Given the description of an element on the screen output the (x, y) to click on. 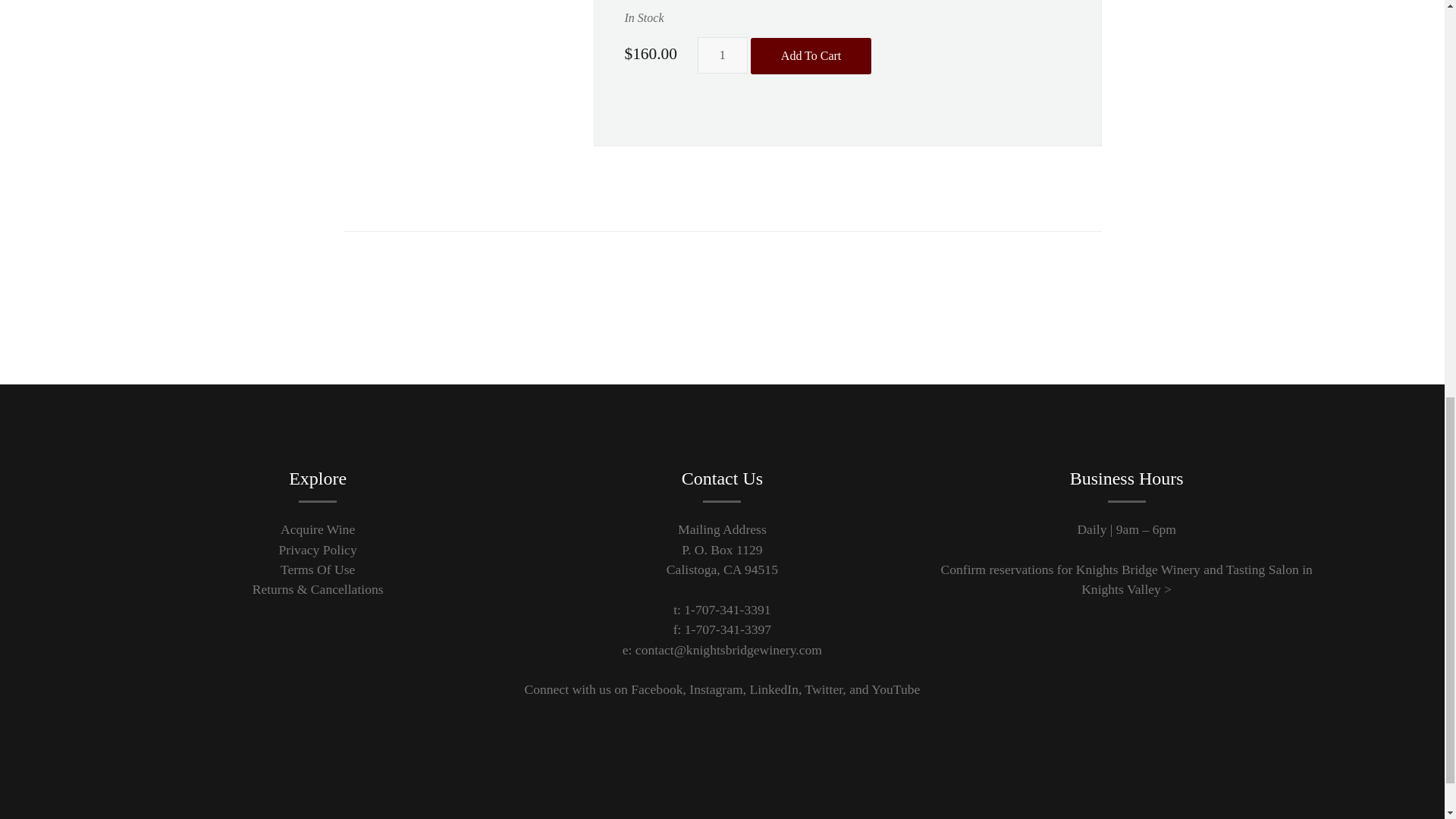
Add To Cart (810, 55)
1 (722, 54)
Terms Of Use (318, 569)
Acquire Wine (318, 529)
Privacy Policy (317, 549)
